Given the description of an element on the screen output the (x, y) to click on. 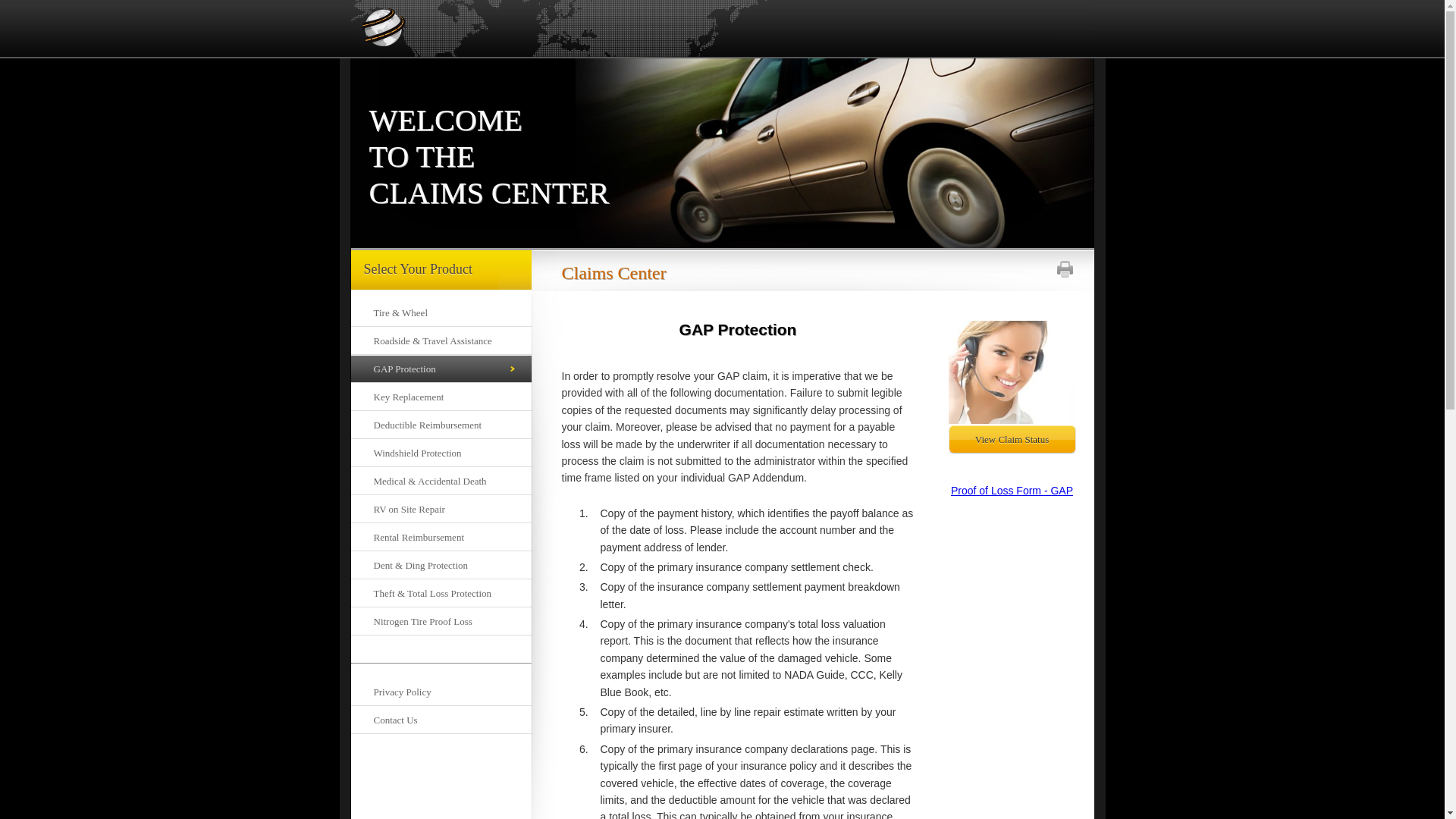
Windshield Protection (440, 452)
Rental Reimbursement (440, 537)
Key Replacement (440, 397)
Proof of Loss Form - GAP (1011, 490)
Deductible Reimbursement (440, 424)
Download Brochure (1011, 439)
Claims Center (812, 265)
PRINT (1064, 268)
Privacy Policy (440, 691)
Contact Us (440, 719)
RV on Site Repair (440, 509)
Print This Page (1064, 268)
Nitrogen Tire Proof Loss (440, 621)
GAP Protection (440, 369)
View Claim Status (1011, 439)
